Given the description of an element on the screen output the (x, y) to click on. 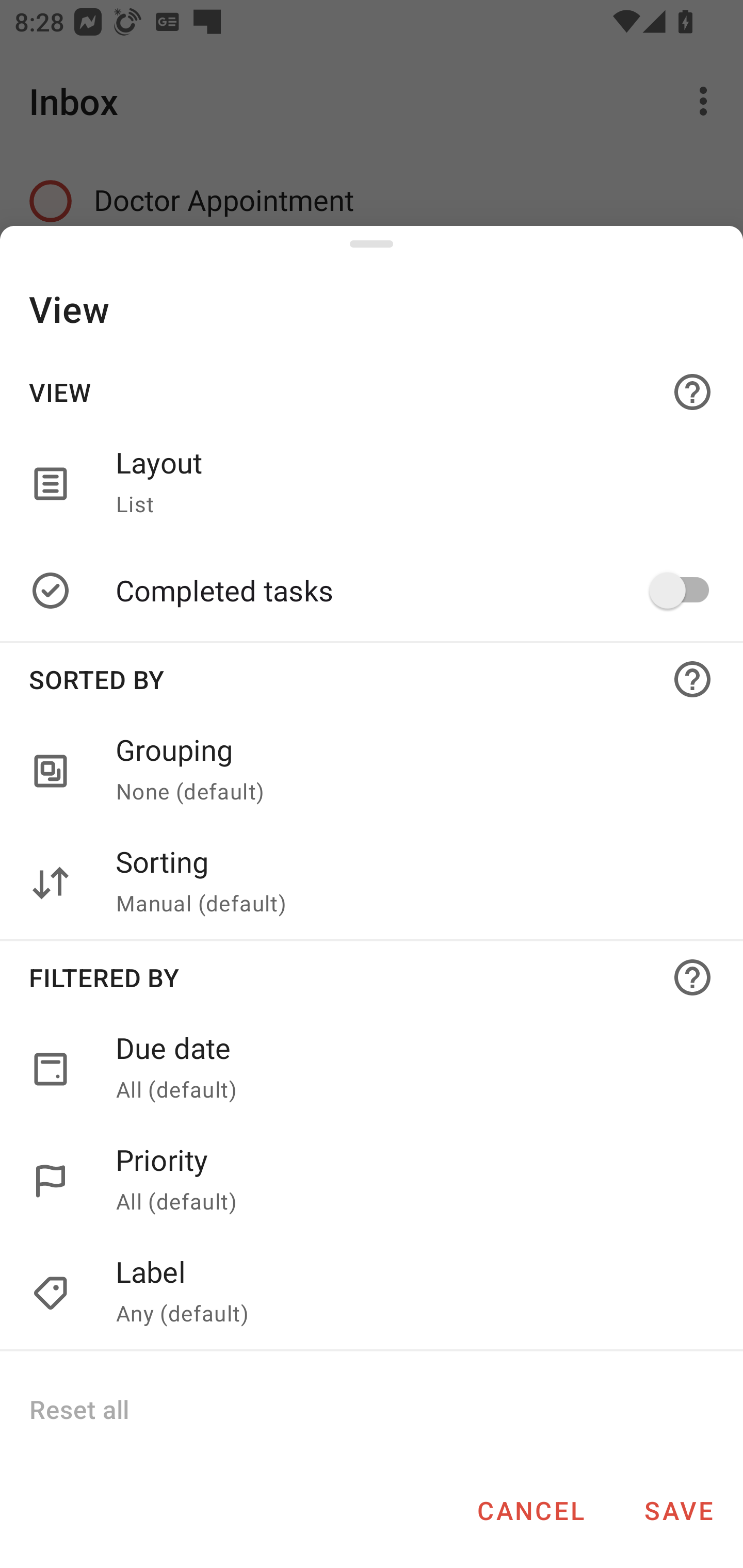
Layout List (371, 483)
Layout List (407, 483)
Completed tasks (407, 590)
SORTED BY (371, 678)
Grouping None (default) (371, 771)
Grouping None (default) (407, 771)
Sorting Manual (default) (371, 883)
Sorting Manual (default) (407, 883)
FILTERED BY (371, 976)
Due date All (default) (371, 1068)
Due date All (default) (407, 1068)
Priority All (default) (371, 1181)
Priority All (default) (407, 1181)
Label Any (default) (371, 1293)
Label Any (default) (407, 1293)
Reset all (78, 1408)
CANCEL (530, 1510)
SAVE (678, 1510)
